Given the description of an element on the screen output the (x, y) to click on. 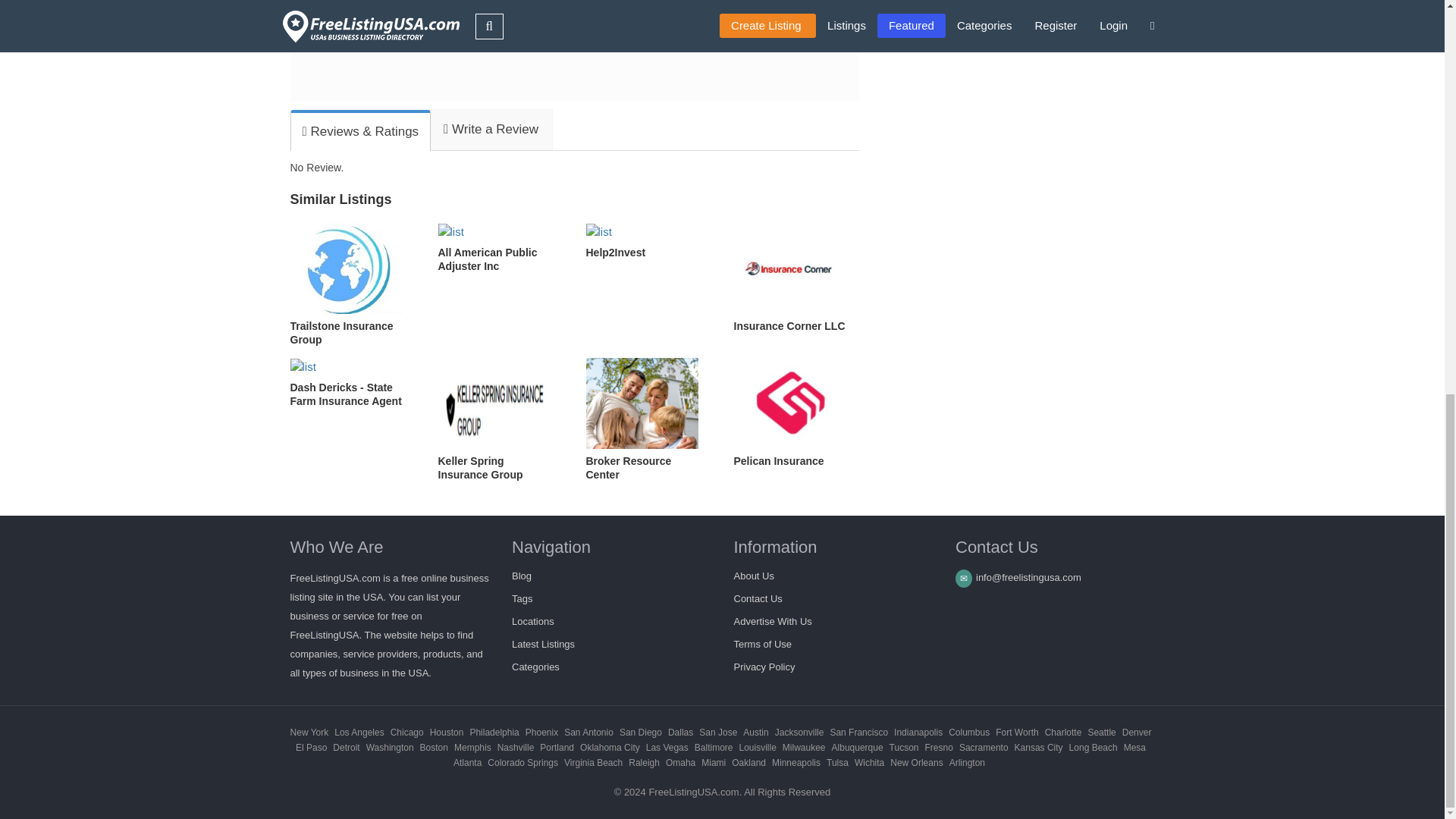
Local business listing in Philadelphia (493, 732)
Terms of Use (762, 644)
Advertise With Us (772, 621)
About Us (753, 575)
Local business listing in Los Angeles (359, 732)
Help2Invest (647, 240)
Local business listing in Phoenix (541, 732)
Tags (522, 598)
Latest Listings (543, 644)
Blog (521, 575)
Privacy Policy (763, 666)
Pelican Insurance (796, 412)
Broker Resource Center (647, 419)
Insurance Corner LLC (796, 277)
FreeListingUSA Blog (521, 575)
